Given the description of an element on the screen output the (x, y) to click on. 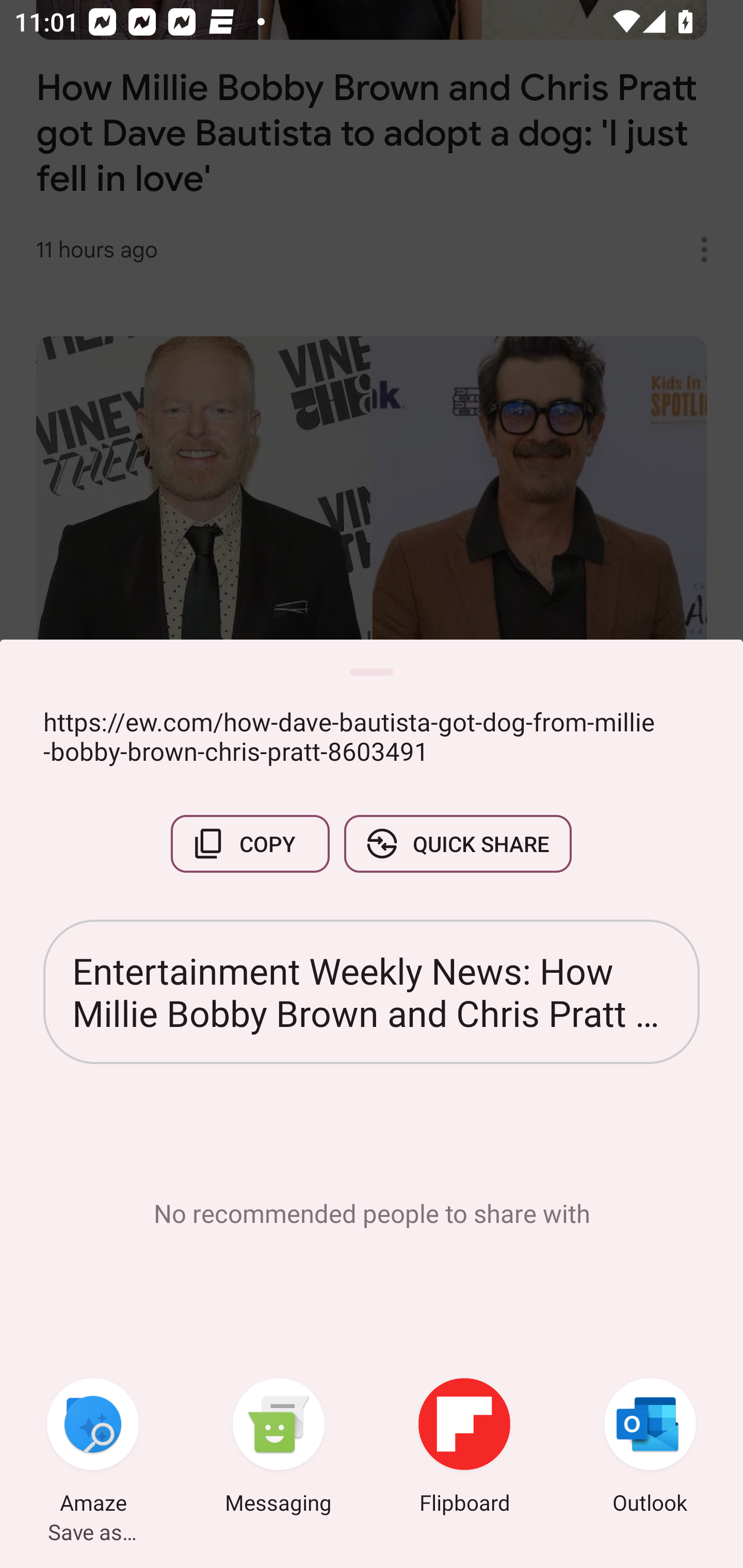
COPY (249, 844)
QUICK SHARE (457, 844)
Amaze Save as… (92, 1448)
Messaging (278, 1448)
Flipboard (464, 1448)
Outlook (650, 1448)
